Given the description of an element on the screen output the (x, y) to click on. 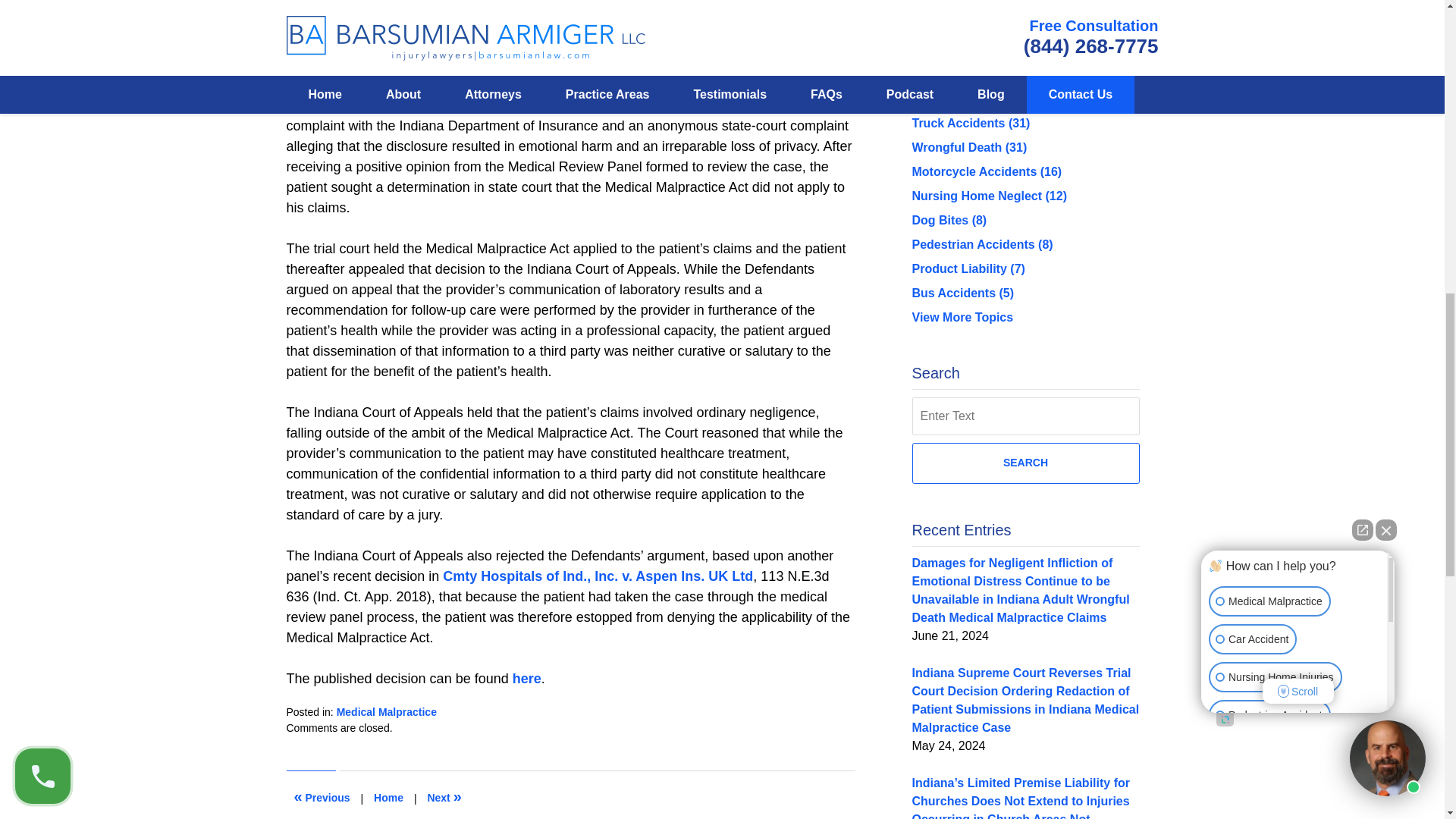
View all posts in Medical Malpractice (386, 711)
Punitive Damages in Indiana (443, 798)
